Given the description of an element on the screen output the (x, y) to click on. 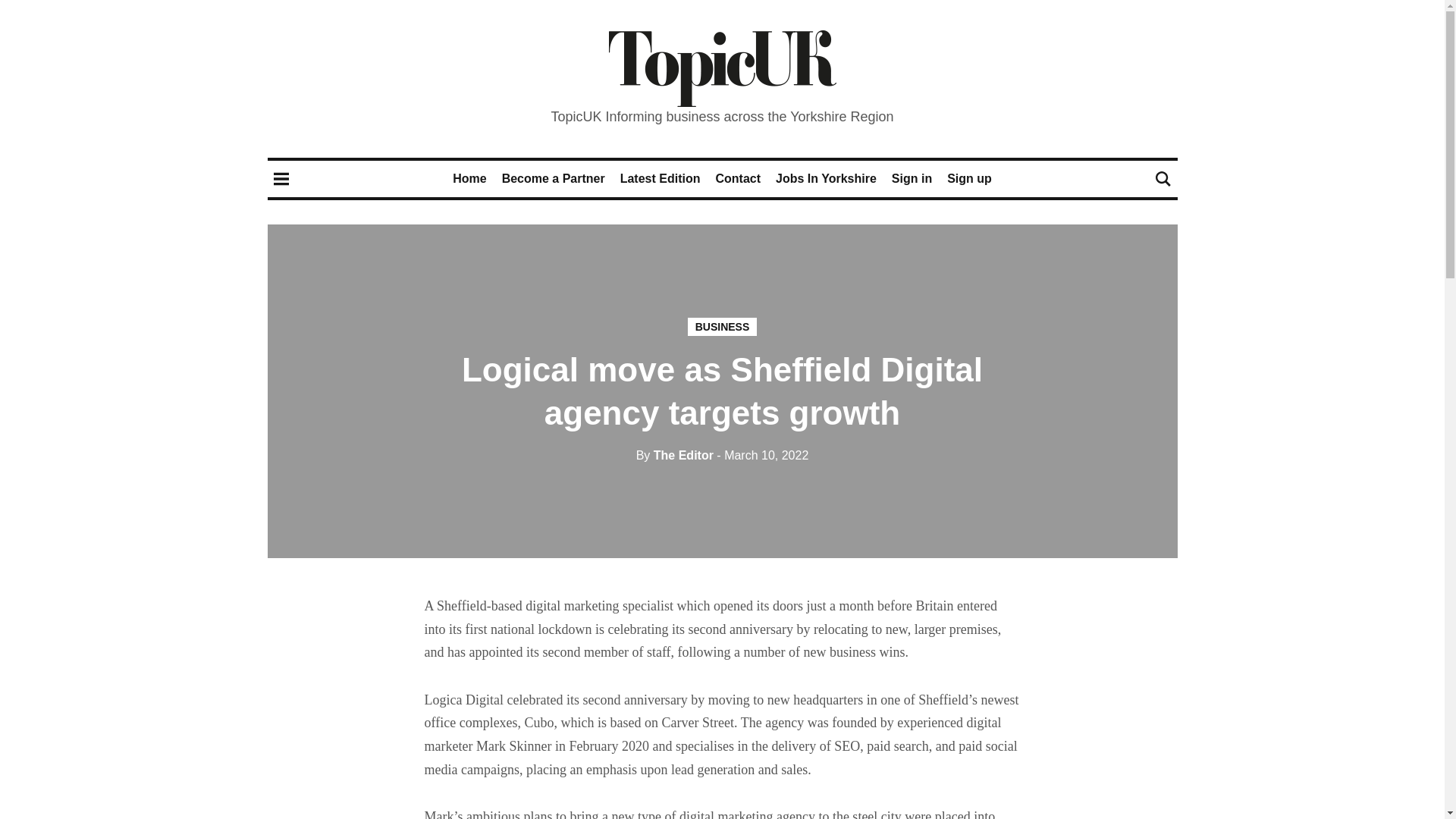
Latest Edition (660, 178)
Home (469, 178)
Become a Partner (553, 178)
Contact (737, 178)
10 March, 2022 (762, 454)
Jobs In Yorkshire (826, 178)
BUSINESS (722, 326)
By The Editor (674, 454)
Sign up (969, 178)
Sign in (911, 178)
